Given the description of an element on the screen output the (x, y) to click on. 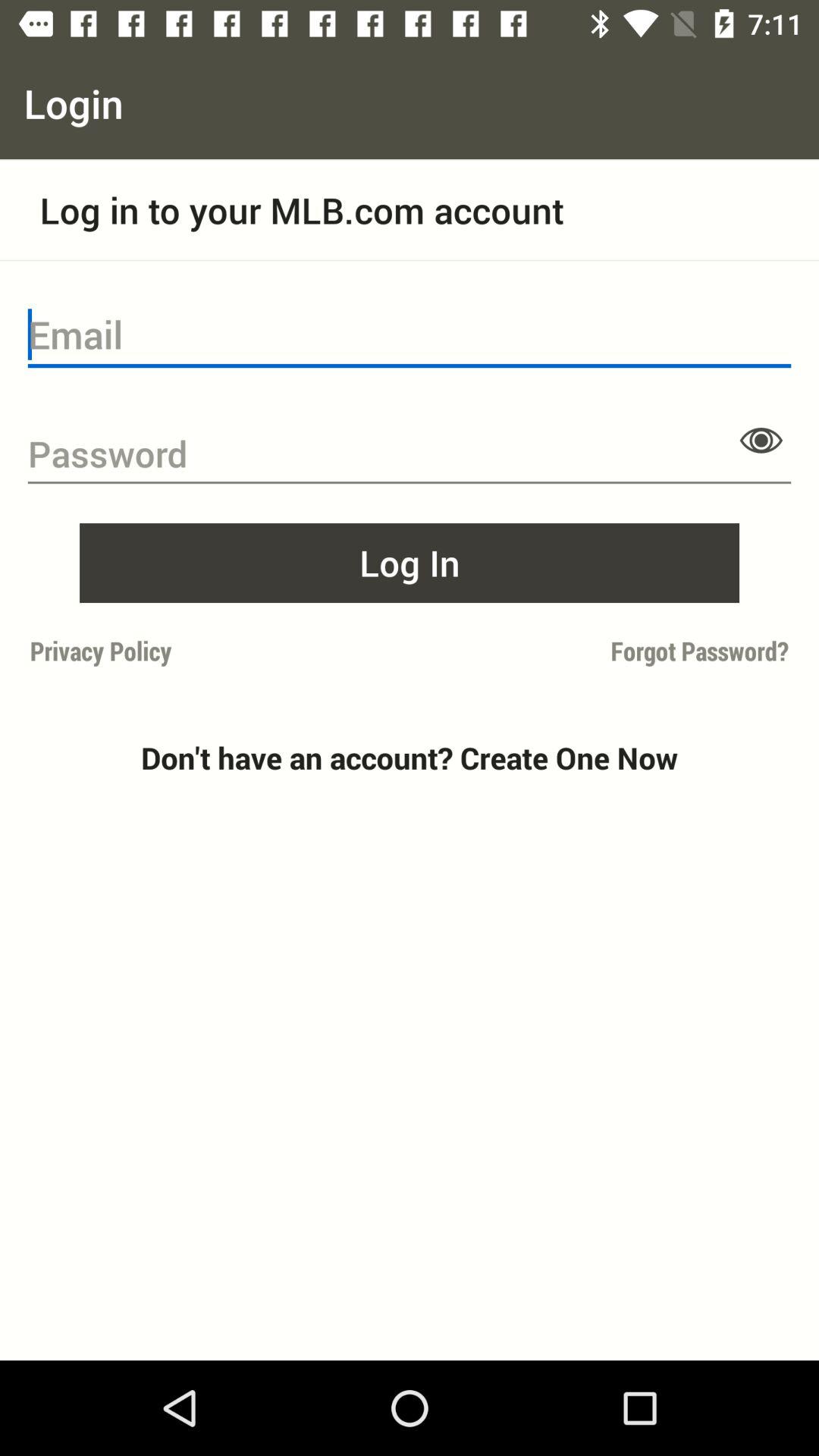
choose the icon above don t have item (214, 650)
